Given the description of an element on the screen output the (x, y) to click on. 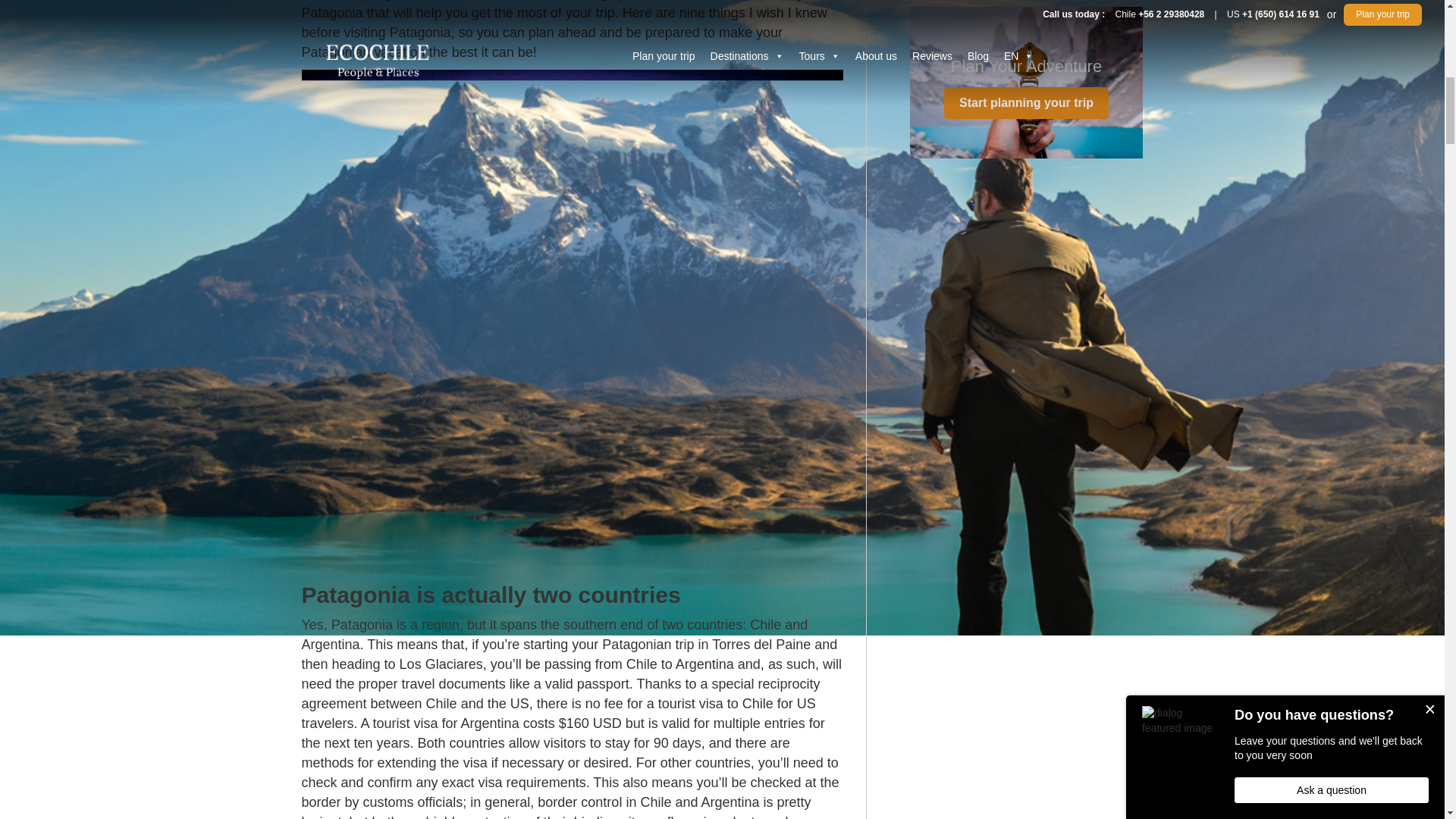
Start planning your trip (1025, 102)
